Given the description of an element on the screen output the (x, y) to click on. 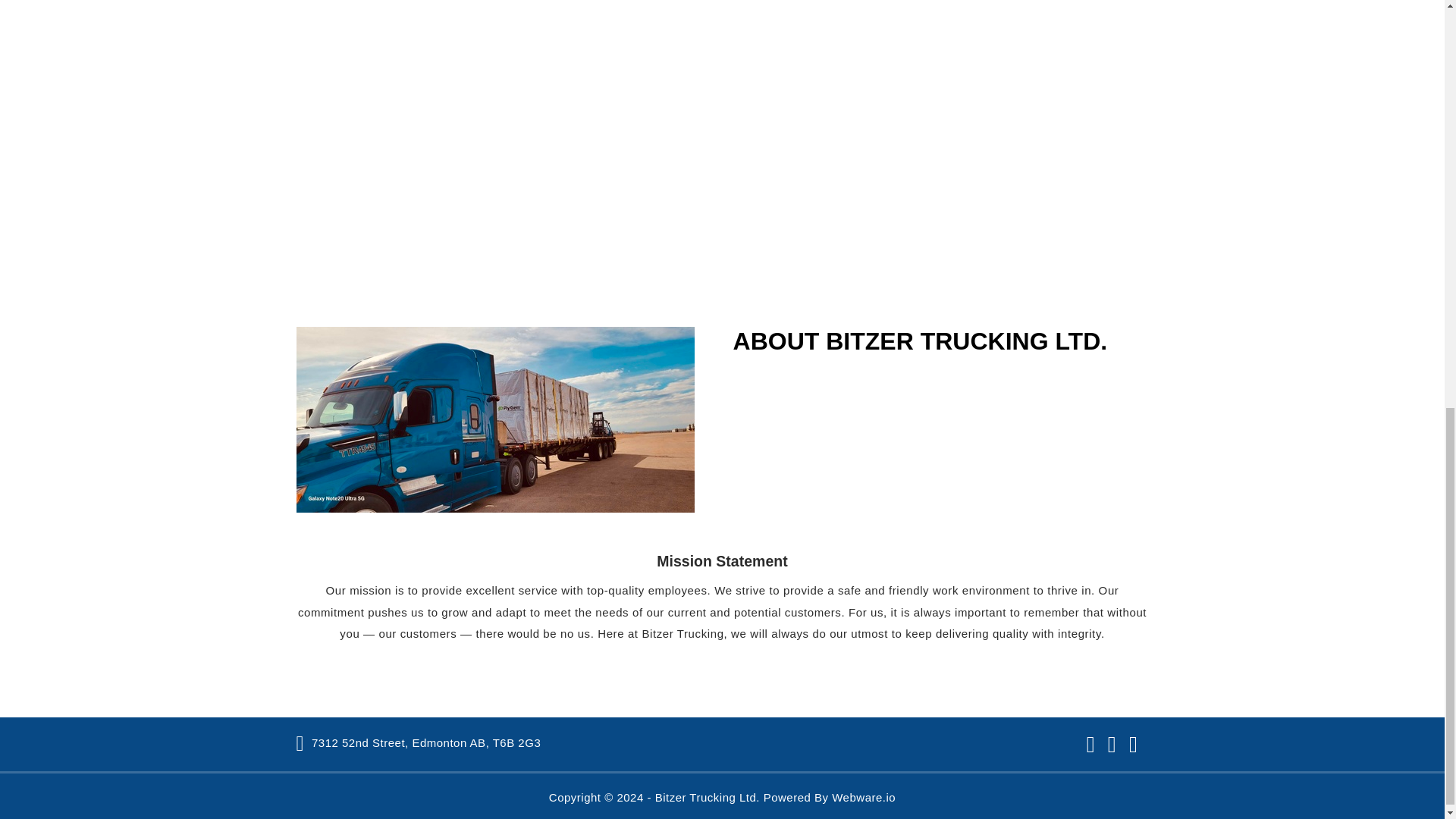
Webware.io (863, 797)
Bitzer Trucking Ltd. (707, 797)
7312 52nd Street, Edmonton AB, T6B 2G3 (419, 742)
